Given the description of an element on the screen output the (x, y) to click on. 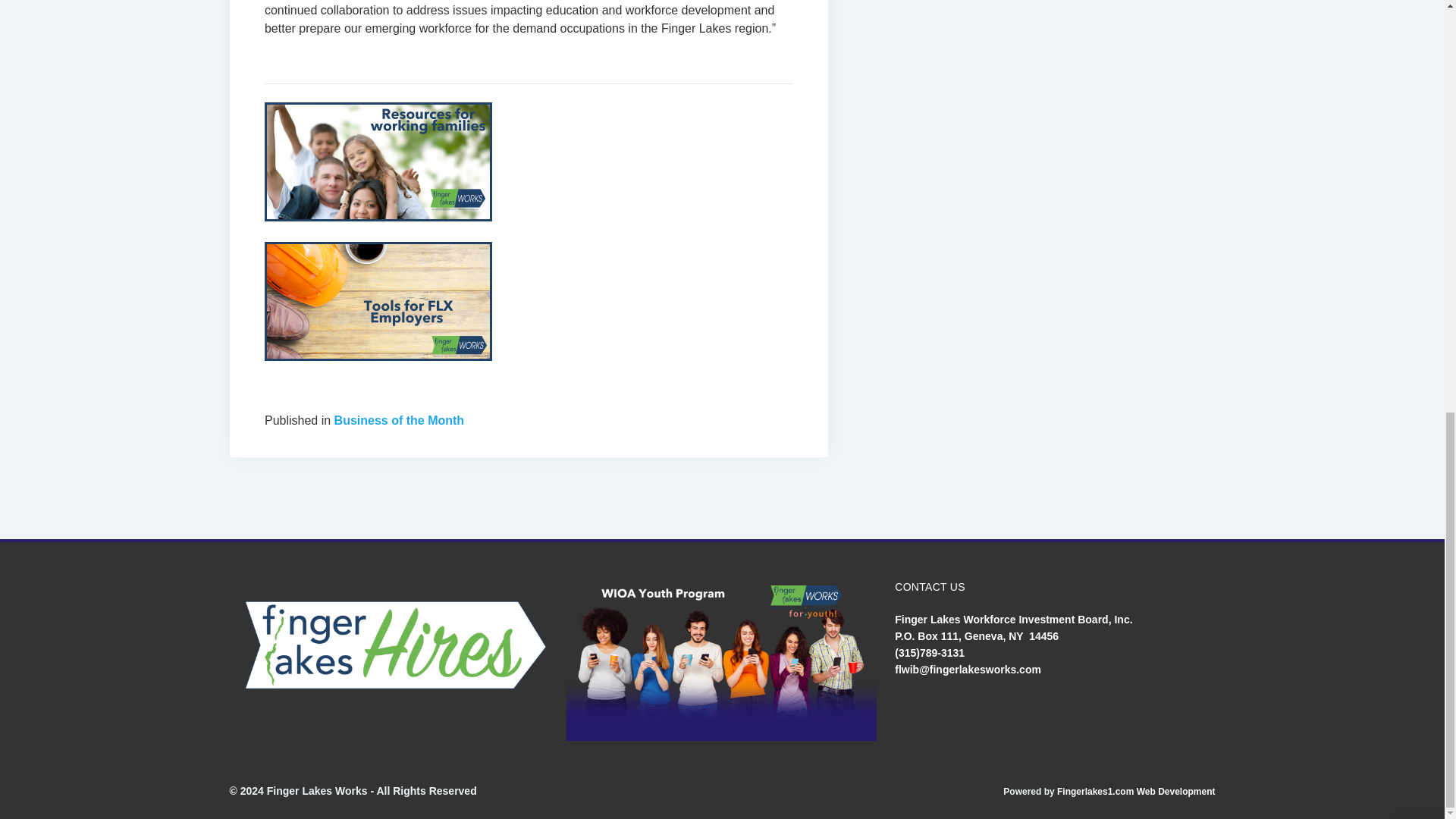
View all posts in Business of the Month (399, 420)
